Given the description of an element on the screen output the (x, y) to click on. 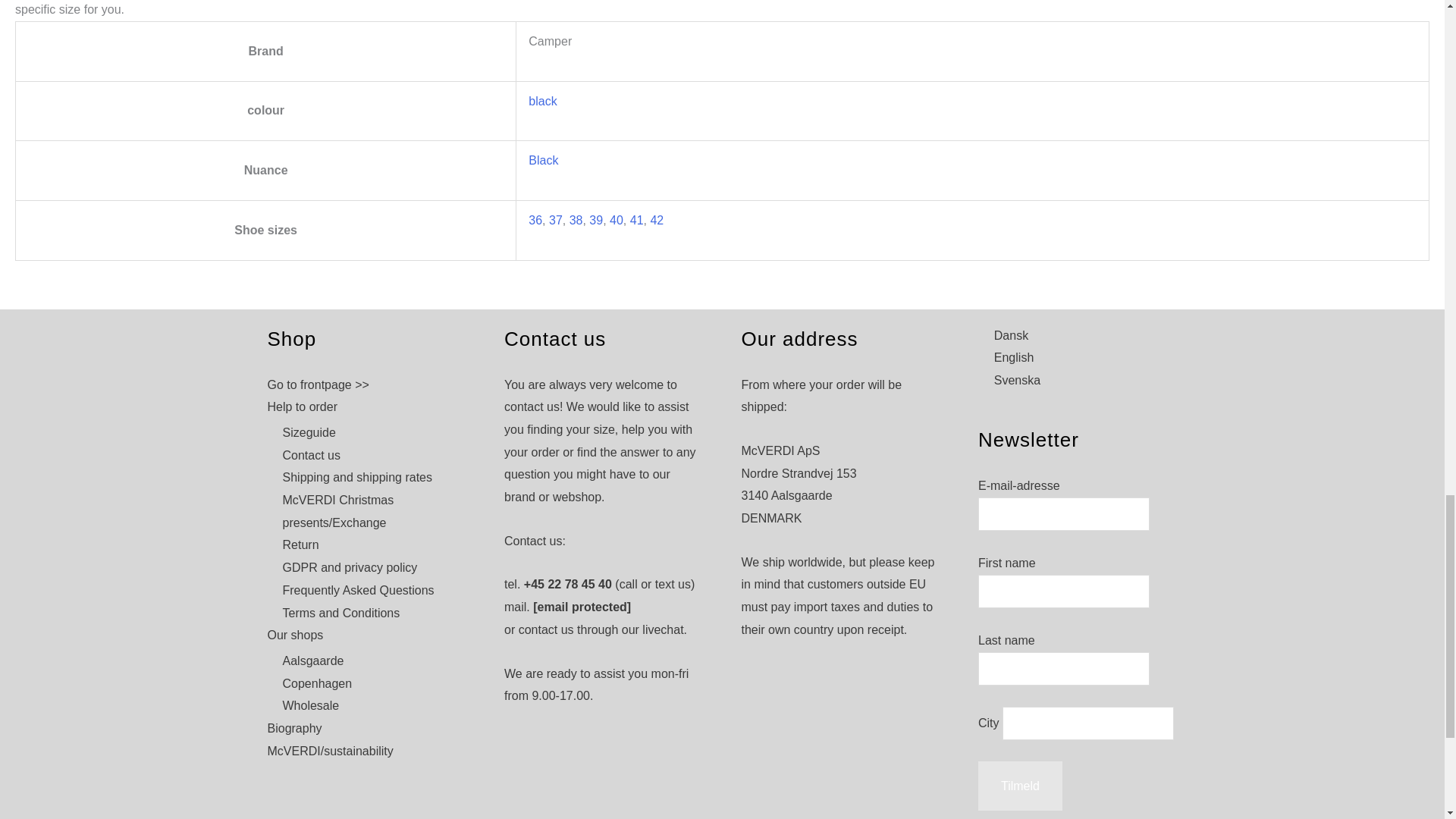
Tilmeld (1020, 786)
